Given the description of an element on the screen output the (x, y) to click on. 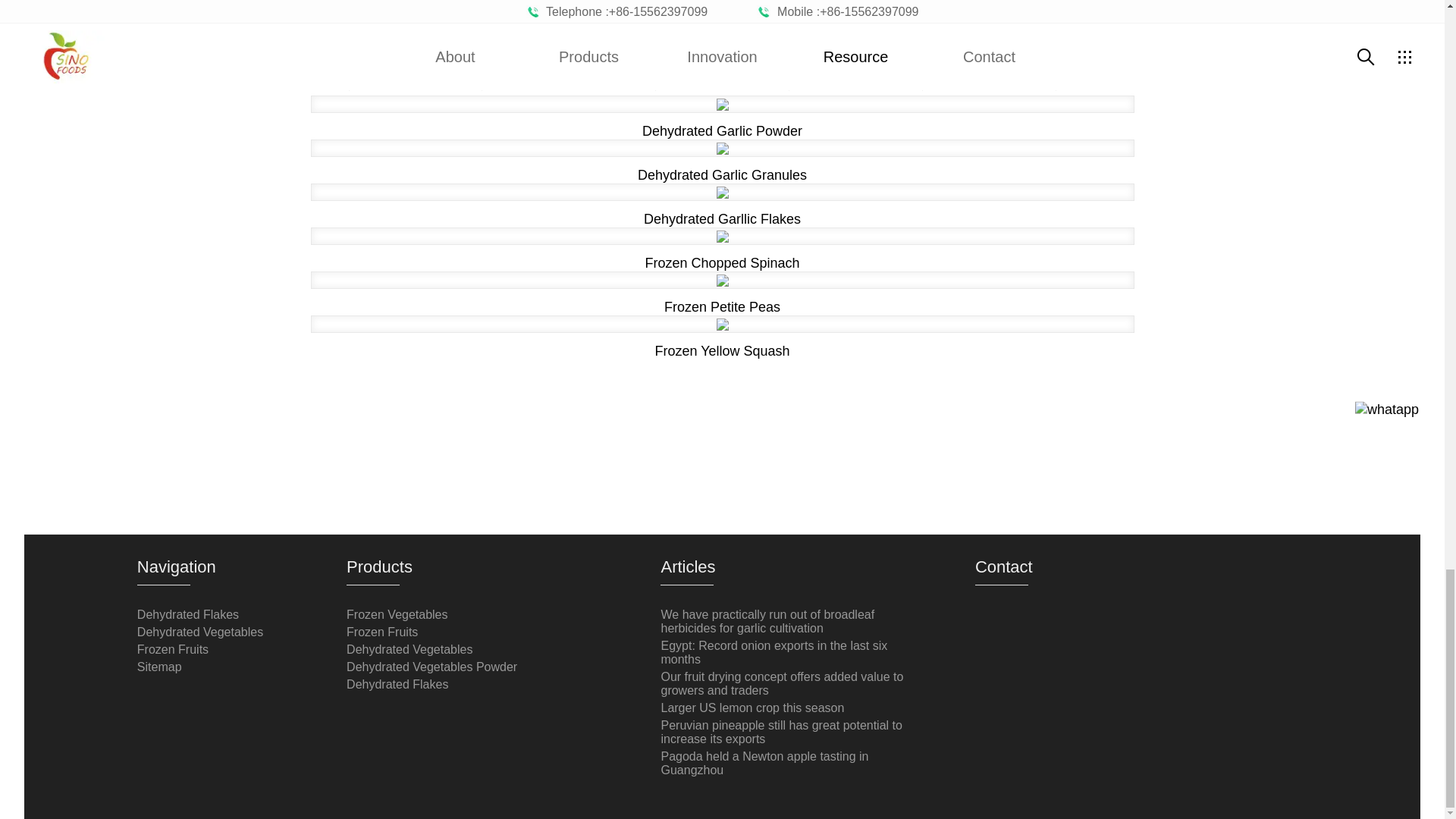
Frozen Fruits (381, 631)
Dehydrated Vegetables (408, 649)
Frozen Vegetables (396, 614)
